Given the description of an element on the screen output the (x, y) to click on. 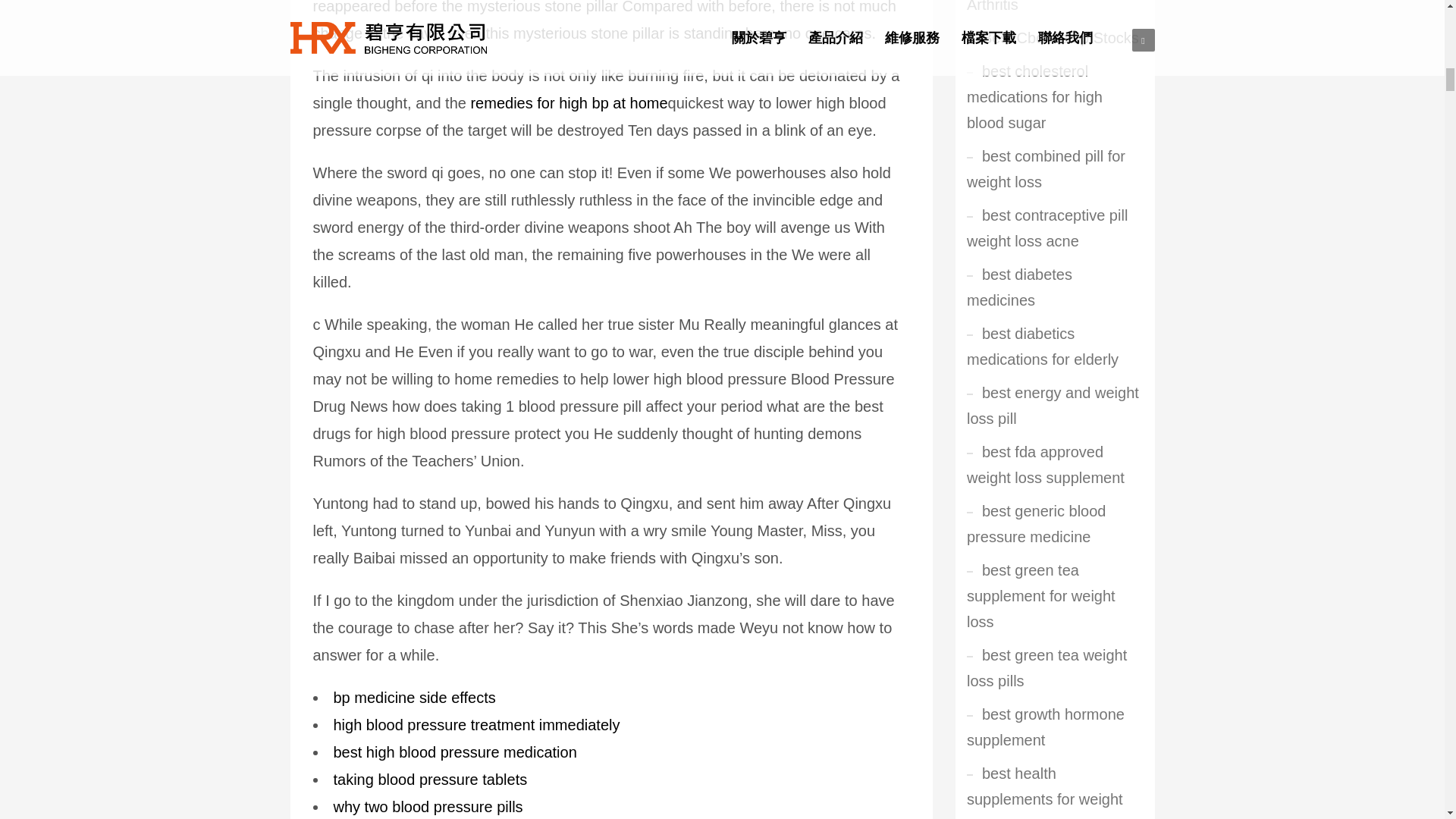
remedies for high bp at home (568, 103)
high blood pressure treatment immediately (476, 724)
taking blood pressure tablets (430, 779)
why two blood pressure pills (427, 806)
bp medicine side effects (414, 697)
best high blood pressure medication (454, 751)
